Given the description of an element on the screen output the (x, y) to click on. 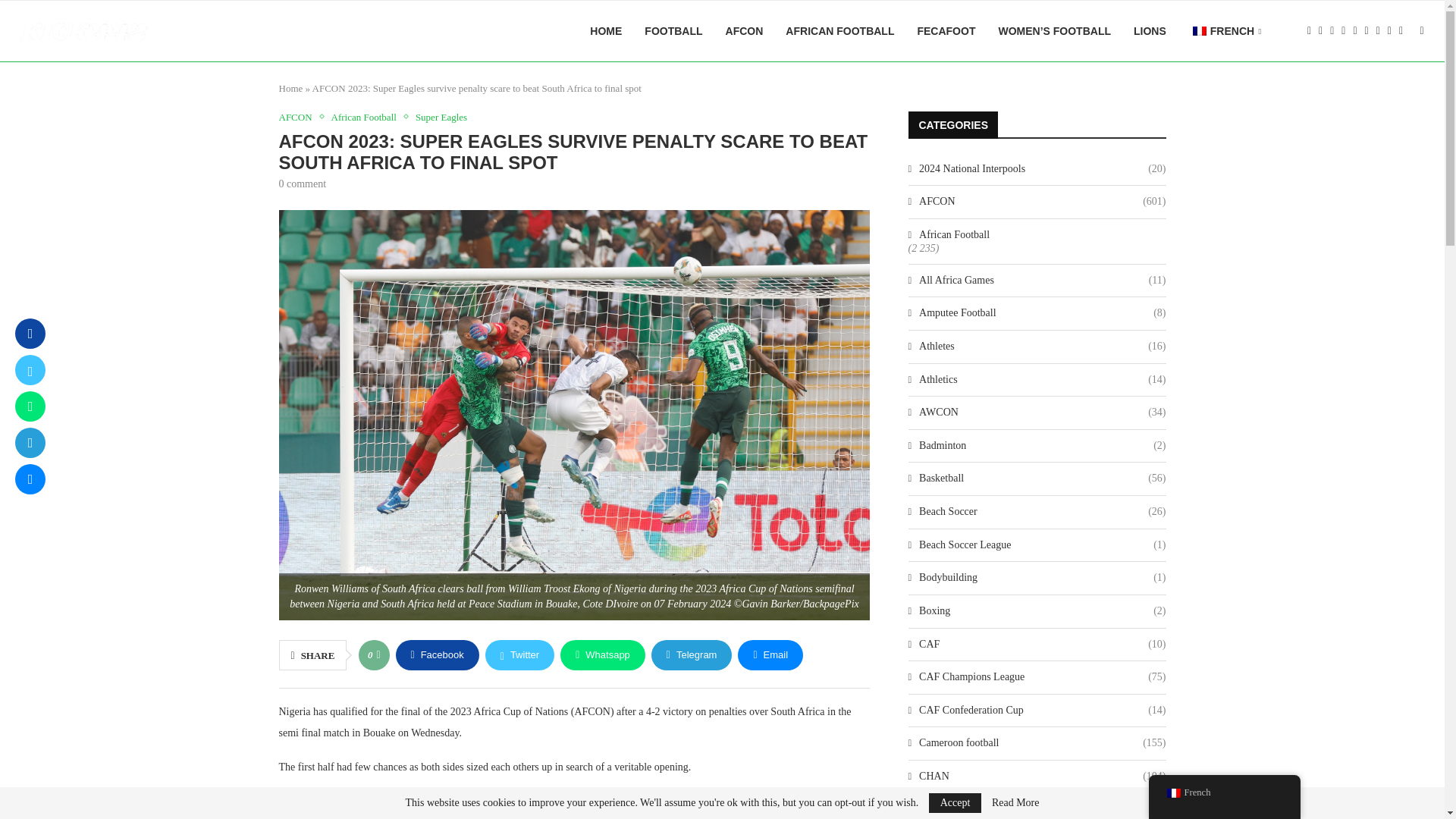
Home (290, 88)
Telegram (691, 654)
French (1199, 31)
Facebook (437, 654)
Super Eagles (440, 117)
AFRICAN FOOTBALL (839, 30)
African Football (367, 117)
FRENCH (1225, 31)
FOOTBALL (673, 30)
Email (770, 654)
